Given the description of an element on the screen output the (x, y) to click on. 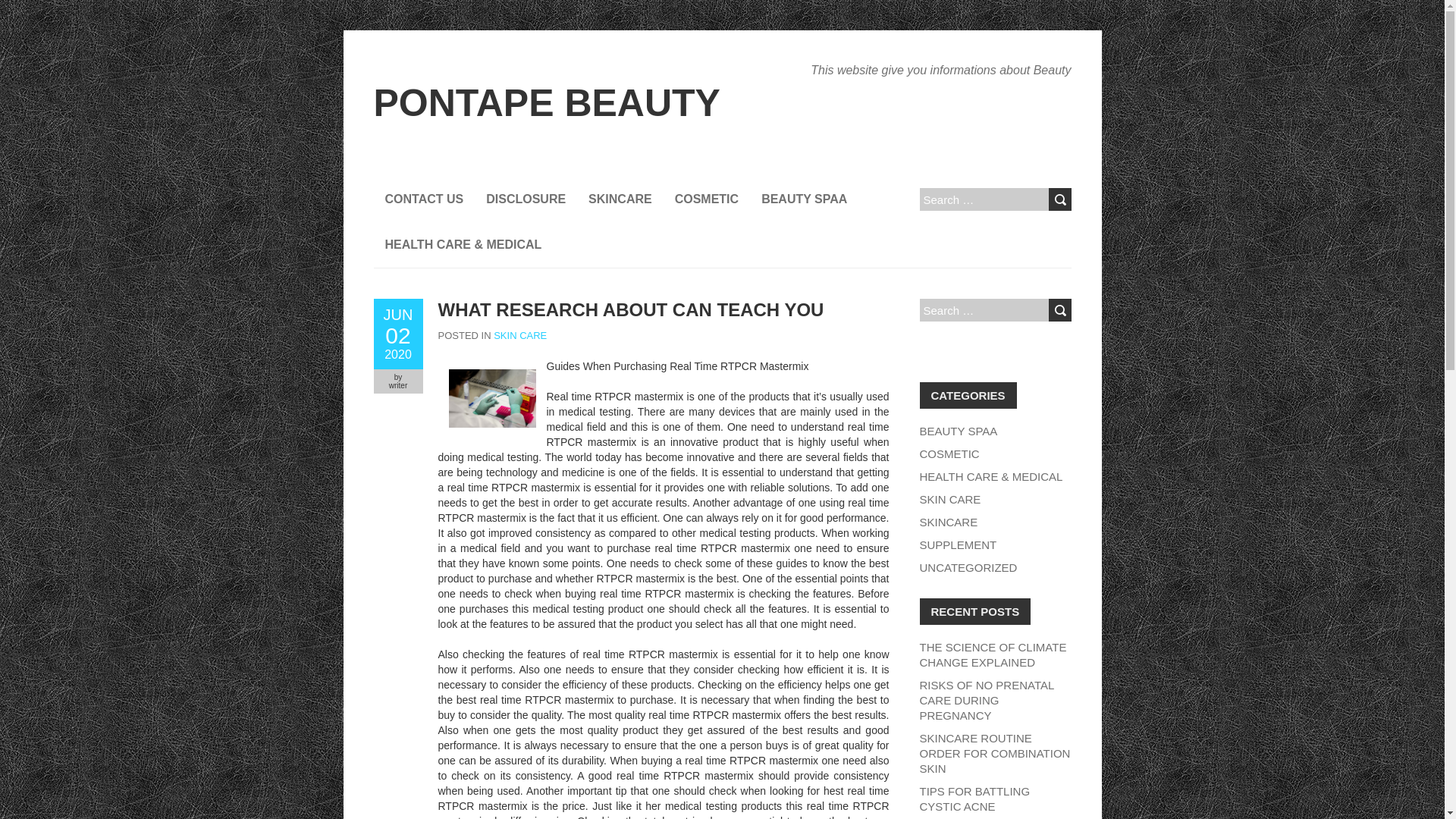
CONTACT US (423, 198)
SKIN CARE (948, 499)
SKINCARE ROUTINE ORDER FOR COMBINATION SKIN (994, 753)
SUPPLEMENT (956, 544)
RISKS OF NO PRENATAL CARE DURING PREGNANCY (985, 699)
What Research About  Can Teach You (631, 309)
WHAT RESEARCH ABOUT CAN TEACH YOU (631, 309)
COSMETIC (948, 453)
Search (1059, 199)
Pontape Beauty (545, 102)
COSMETIC (706, 198)
THE SCIENCE OF CLIMATE CHANGE EXPLAINED (991, 654)
DISCLOSURE (525, 198)
UNCATEGORIZED (967, 567)
SKINCARE (619, 198)
